Given the description of an element on the screen output the (x, y) to click on. 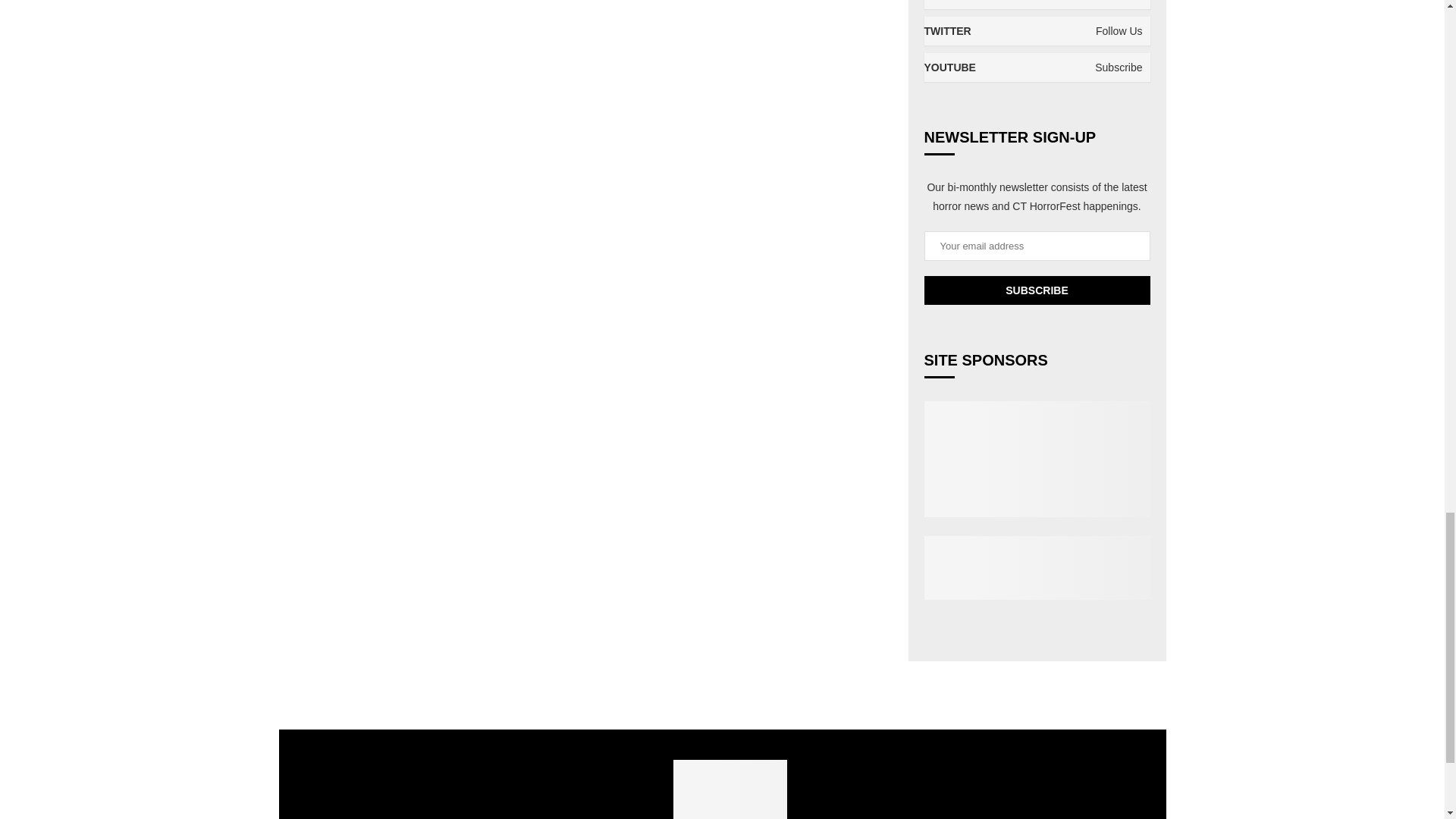
Subscribe (1036, 290)
